Given the description of an element on the screen output the (x, y) to click on. 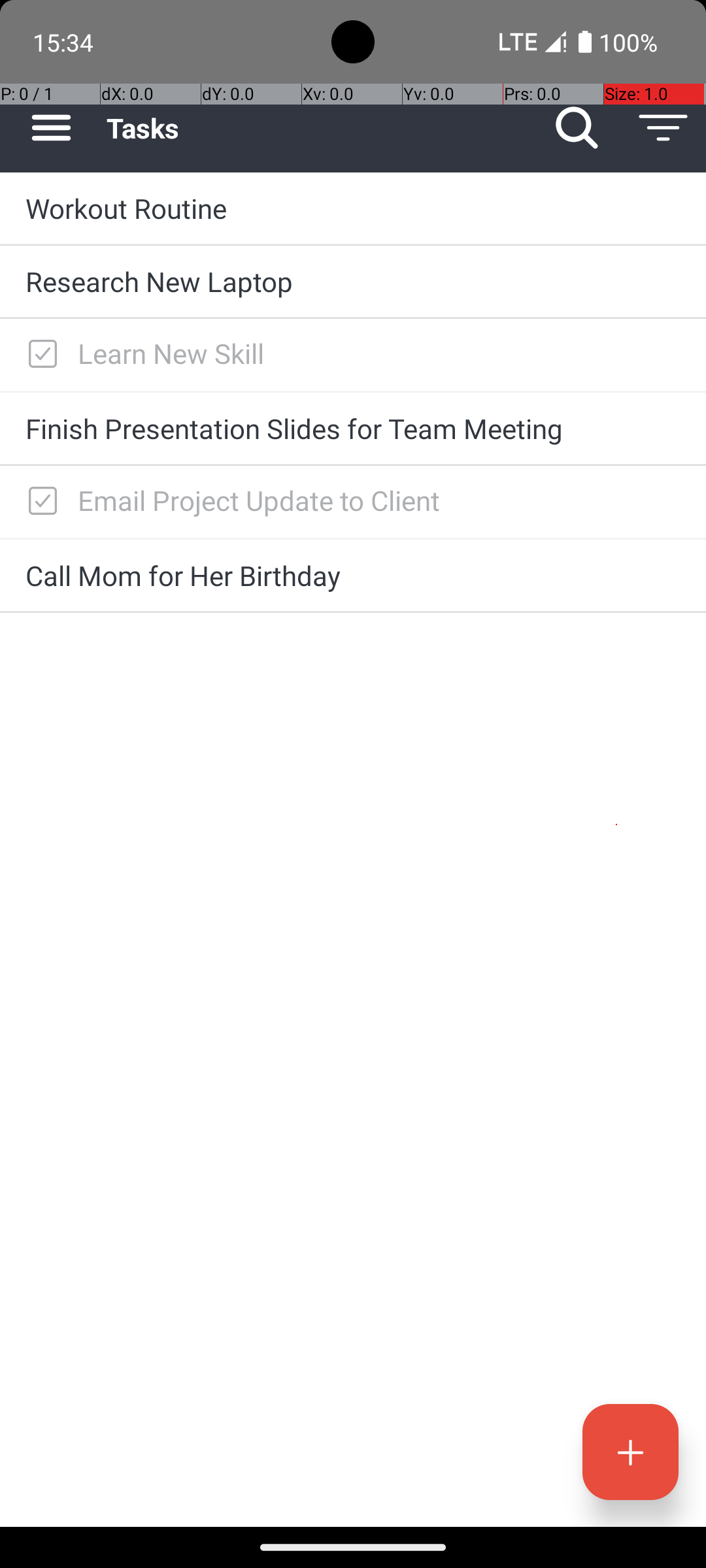
Workout Routine Element type: android.widget.TextView (352, 207)
Research New Laptop Element type: android.widget.TextView (352, 280)
to-do: Learn New Skill Element type: android.widget.CheckBox (38, 354)
Learn New Skill Element type: android.widget.TextView (378, 352)
Finish Presentation Slides for Team Meeting Element type: android.widget.TextView (352, 427)
to-do: Email Project Update to Client Element type: android.widget.CheckBox (38, 501)
Email Project Update to Client Element type: android.widget.TextView (378, 499)
Call Mom for Her Birthday Element type: android.widget.TextView (352, 574)
